Given the description of an element on the screen output the (x, y) to click on. 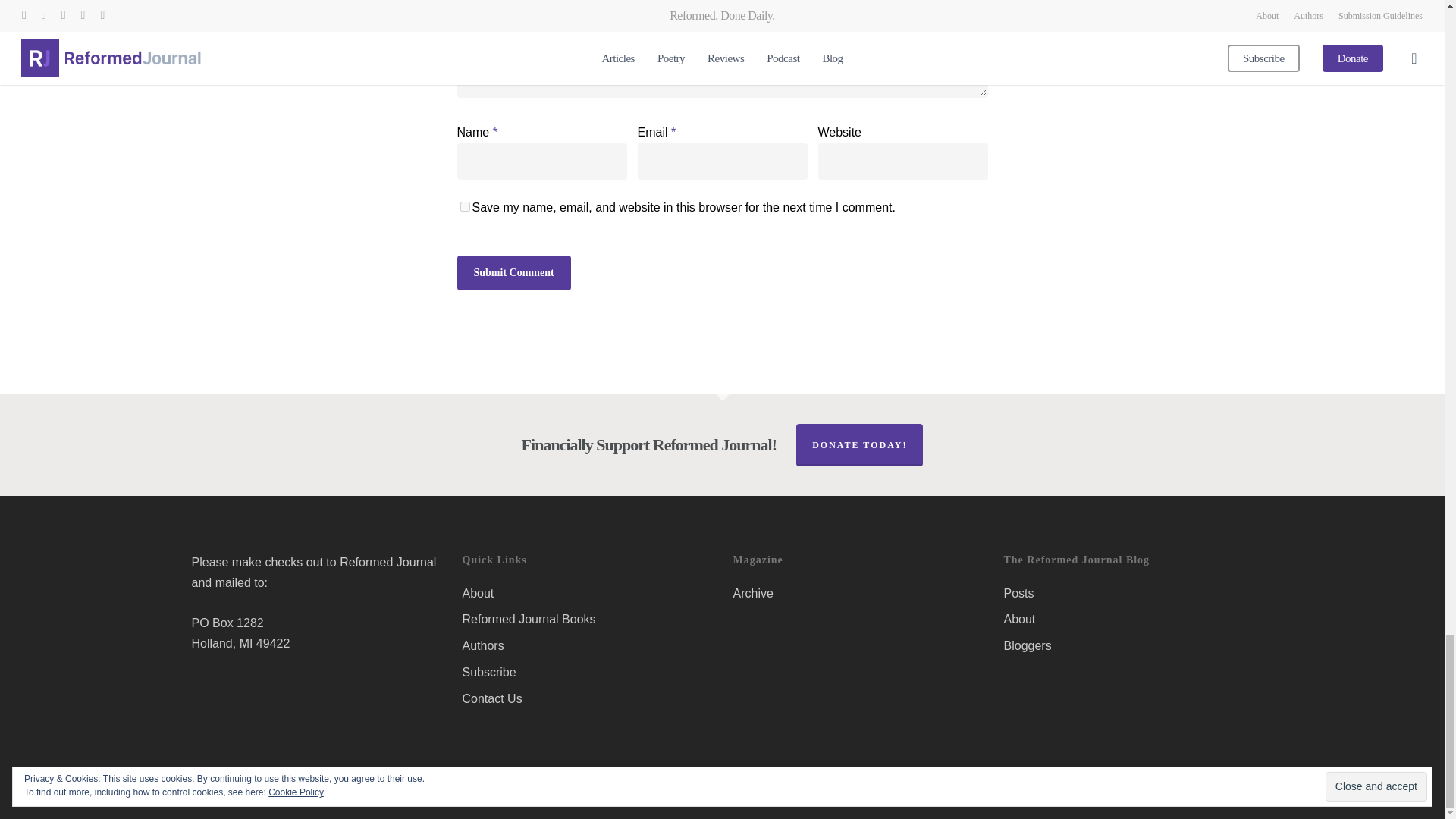
Submit Comment (513, 272)
yes (464, 206)
